Given the description of an element on the screen output the (x, y) to click on. 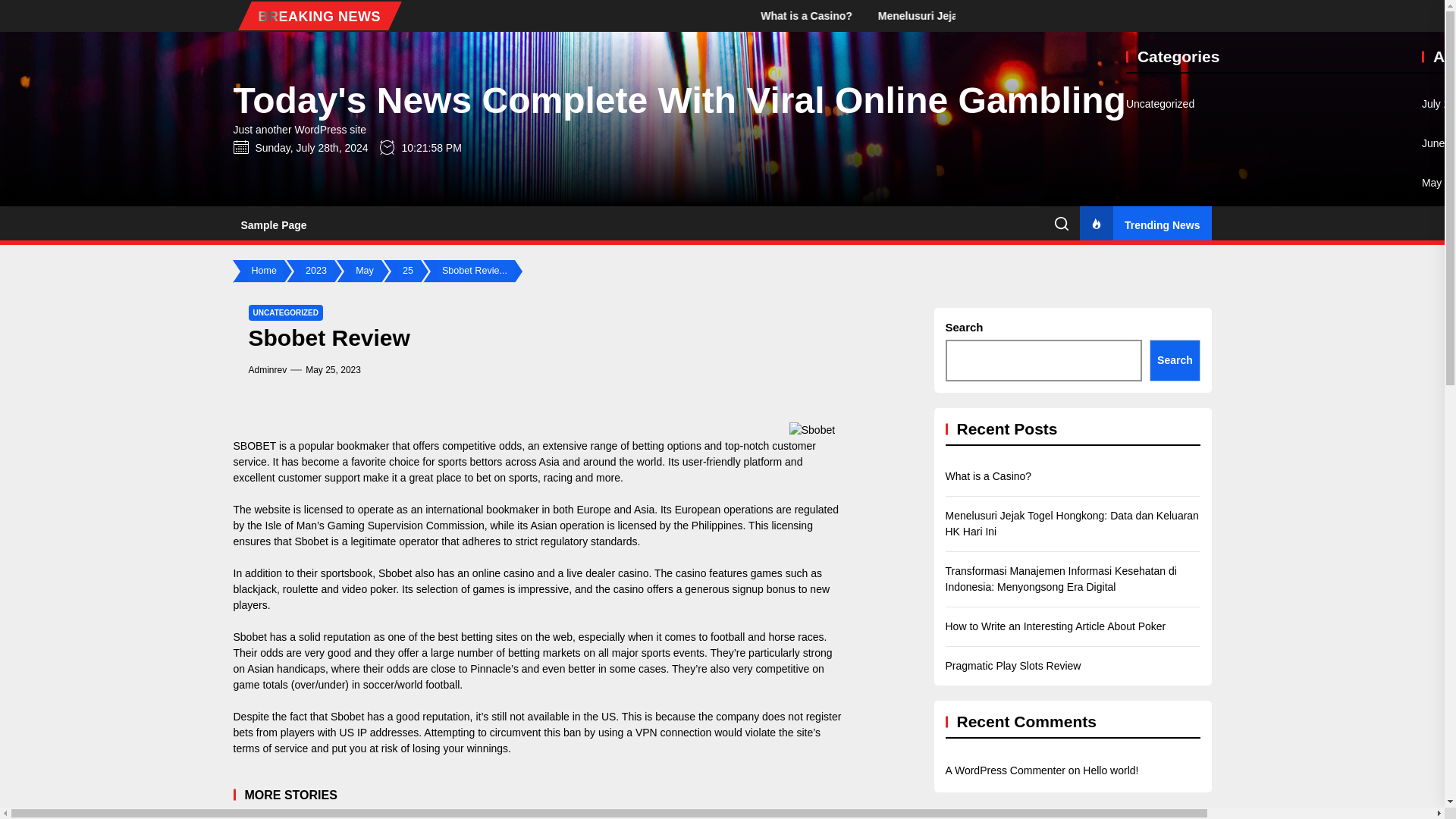
Uncategorized (1159, 104)
August 2023 (1439, 537)
November 2023 (1439, 419)
March 2023 (1439, 734)
February 2024 (1439, 301)
What is a Casino? (942, 15)
July 2023 (1439, 577)
May 2023 (1439, 656)
July 2024 (1439, 104)
February 2023 (1439, 774)
September 2023 (1439, 498)
January 2024 (1439, 340)
October 2023 (1439, 458)
April 2024 (1439, 222)
June 2024 (1439, 143)
